Given the description of an element on the screen output the (x, y) to click on. 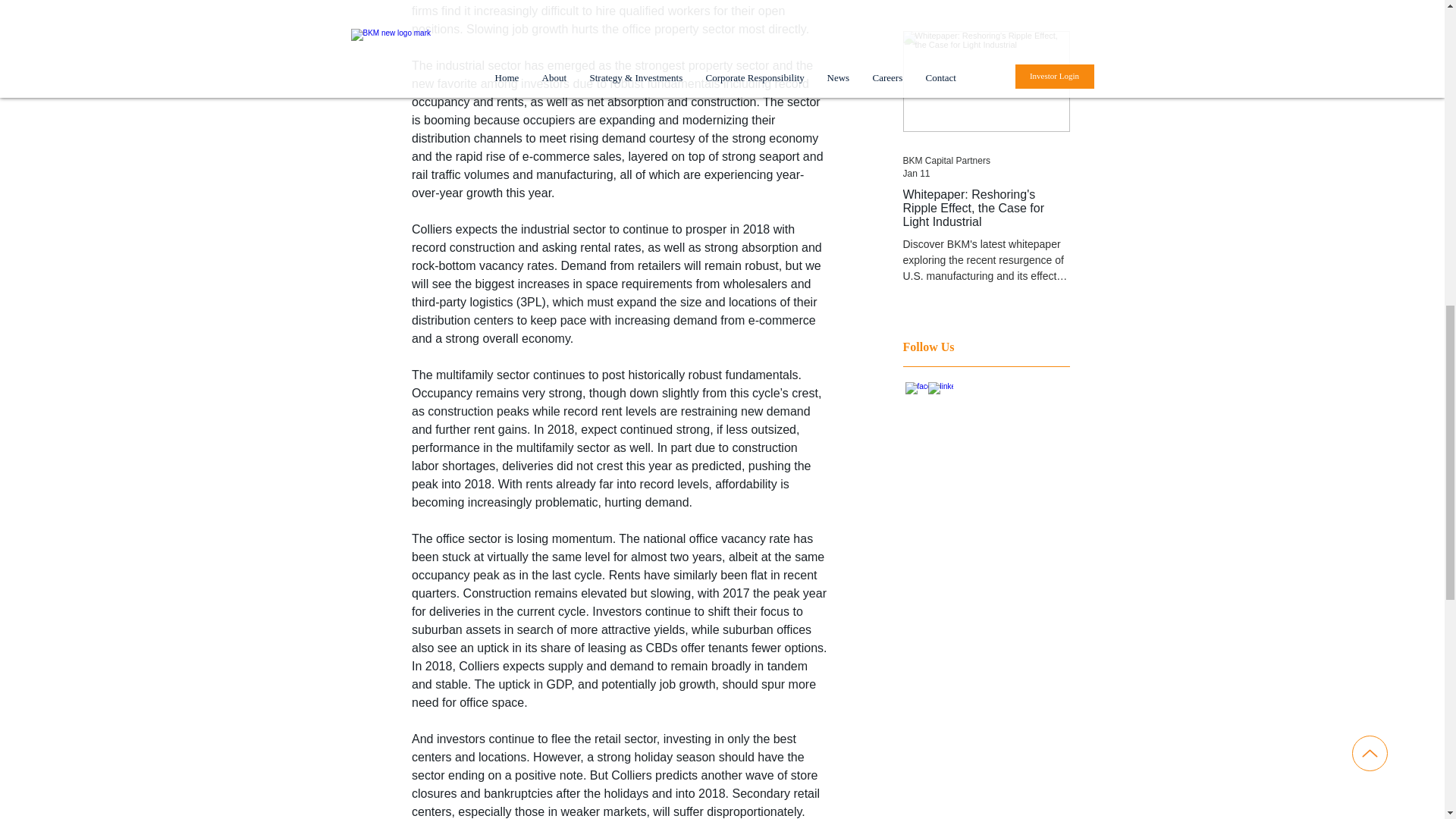
Jan 11 (916, 173)
BKM Capital Partners (946, 160)
